Given the description of an element on the screen output the (x, y) to click on. 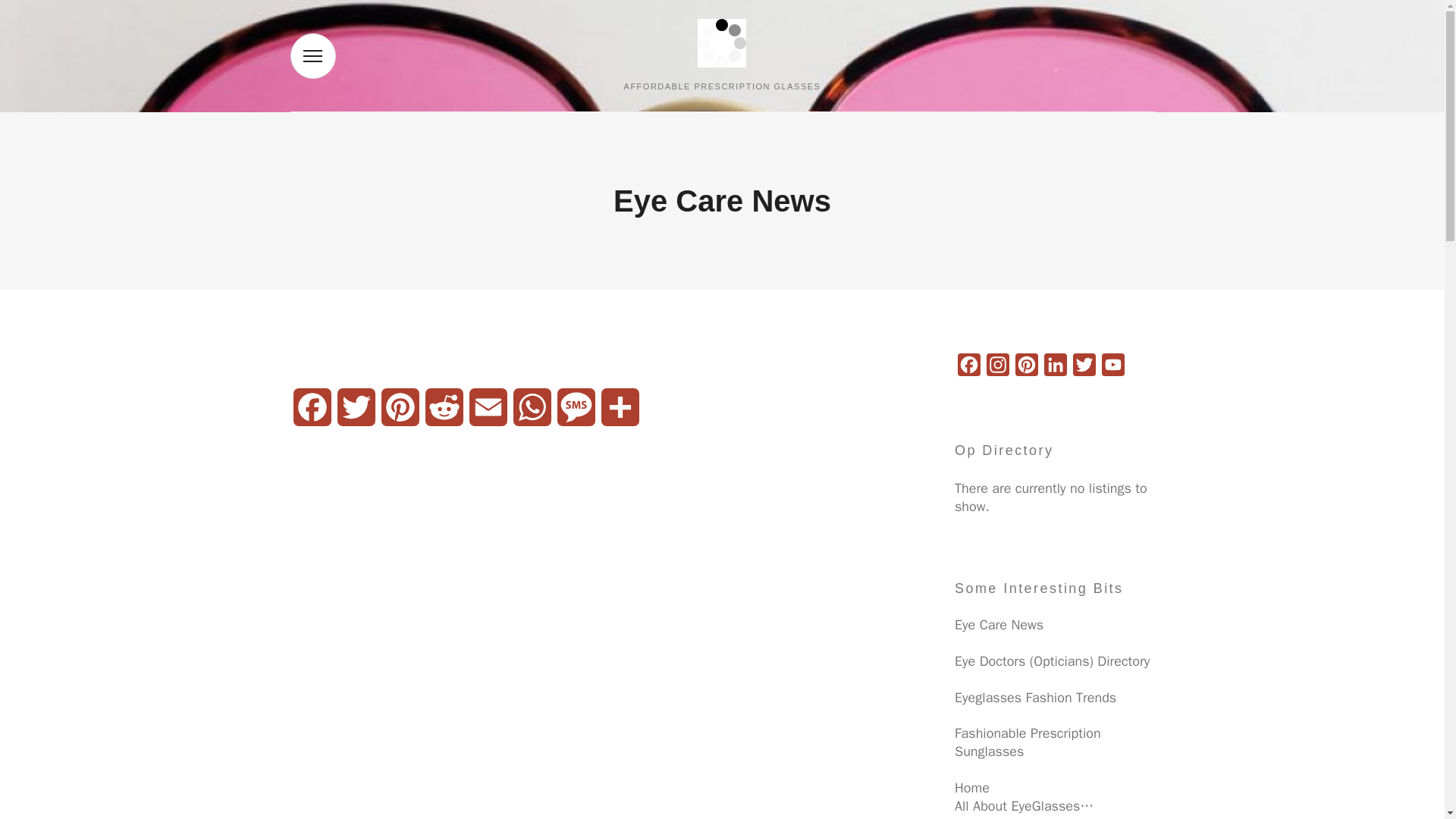
WhatsApp (531, 408)
Facebook (311, 408)
Twitter (355, 408)
Email (487, 408)
Pinterest (1026, 365)
Message (574, 408)
Pinterest (399, 408)
Reddit (443, 408)
Instagram (997, 365)
Facebook (969, 365)
